Given the description of an element on the screen output the (x, y) to click on. 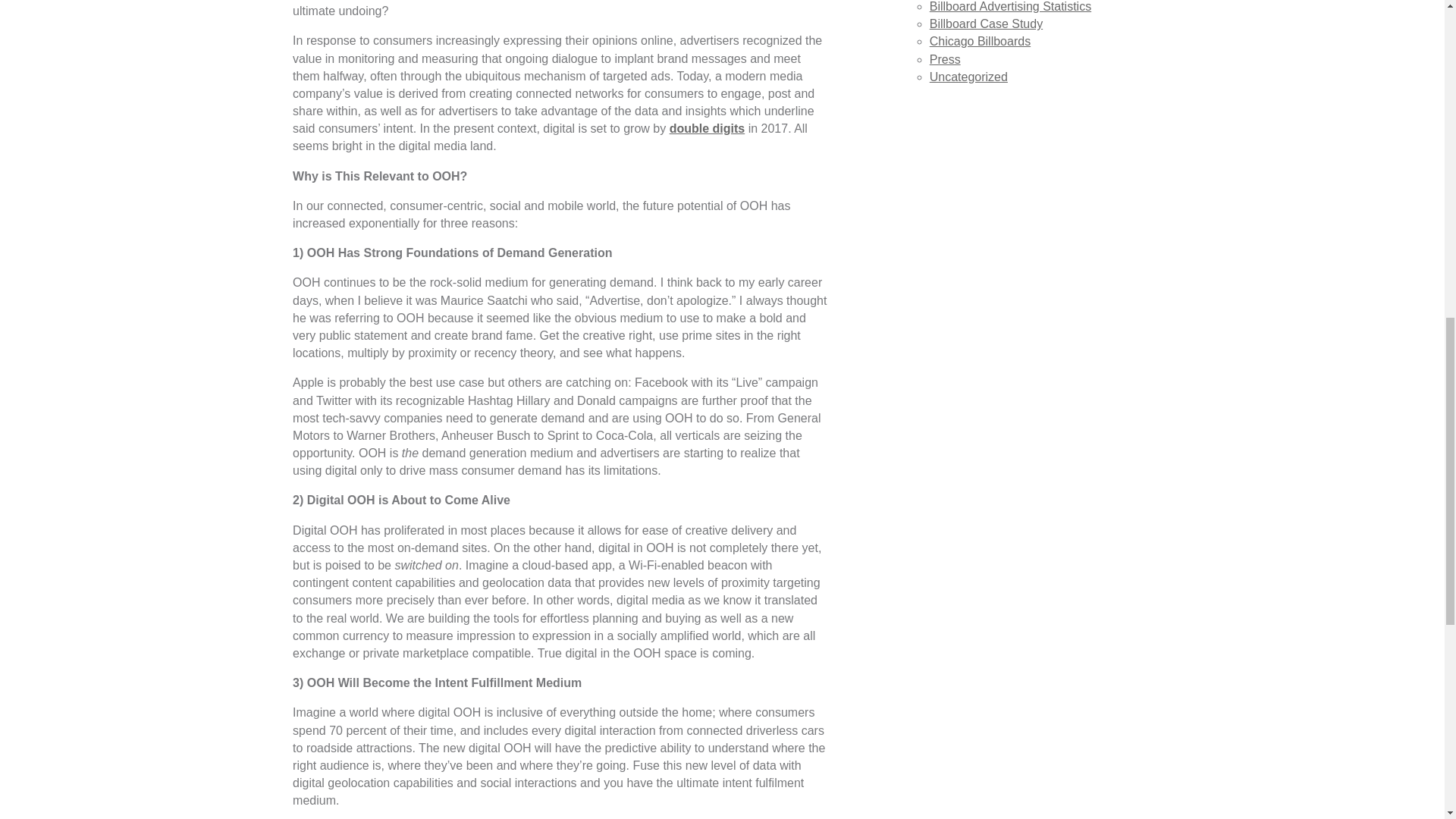
Billboard Case Study (986, 23)
double digits (707, 128)
Chicago Billboards (980, 41)
Press (945, 59)
Uncategorized (968, 76)
Billboard Advertising Statistics (1010, 6)
